Given the description of an element on the screen output the (x, y) to click on. 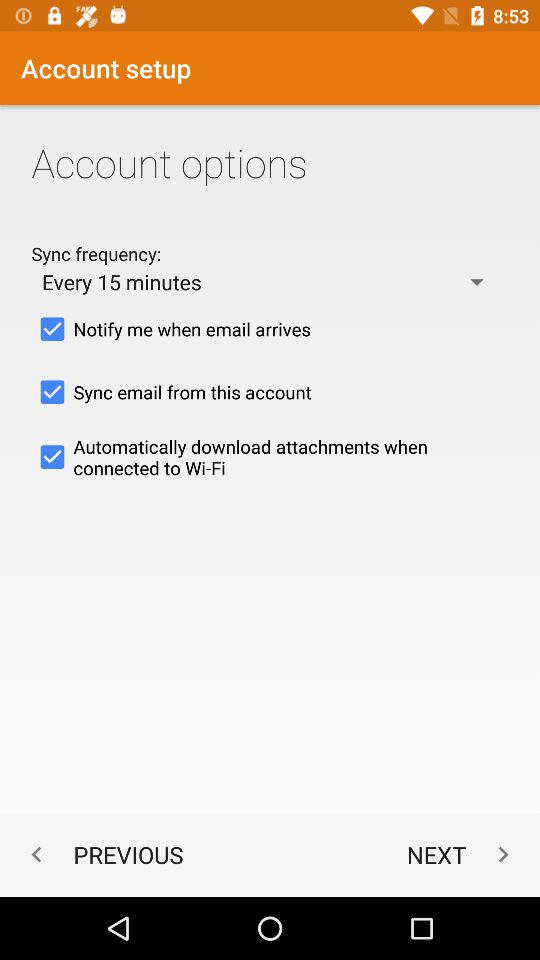
open automatically download attachments item (269, 457)
